Given the description of an element on the screen output the (x, y) to click on. 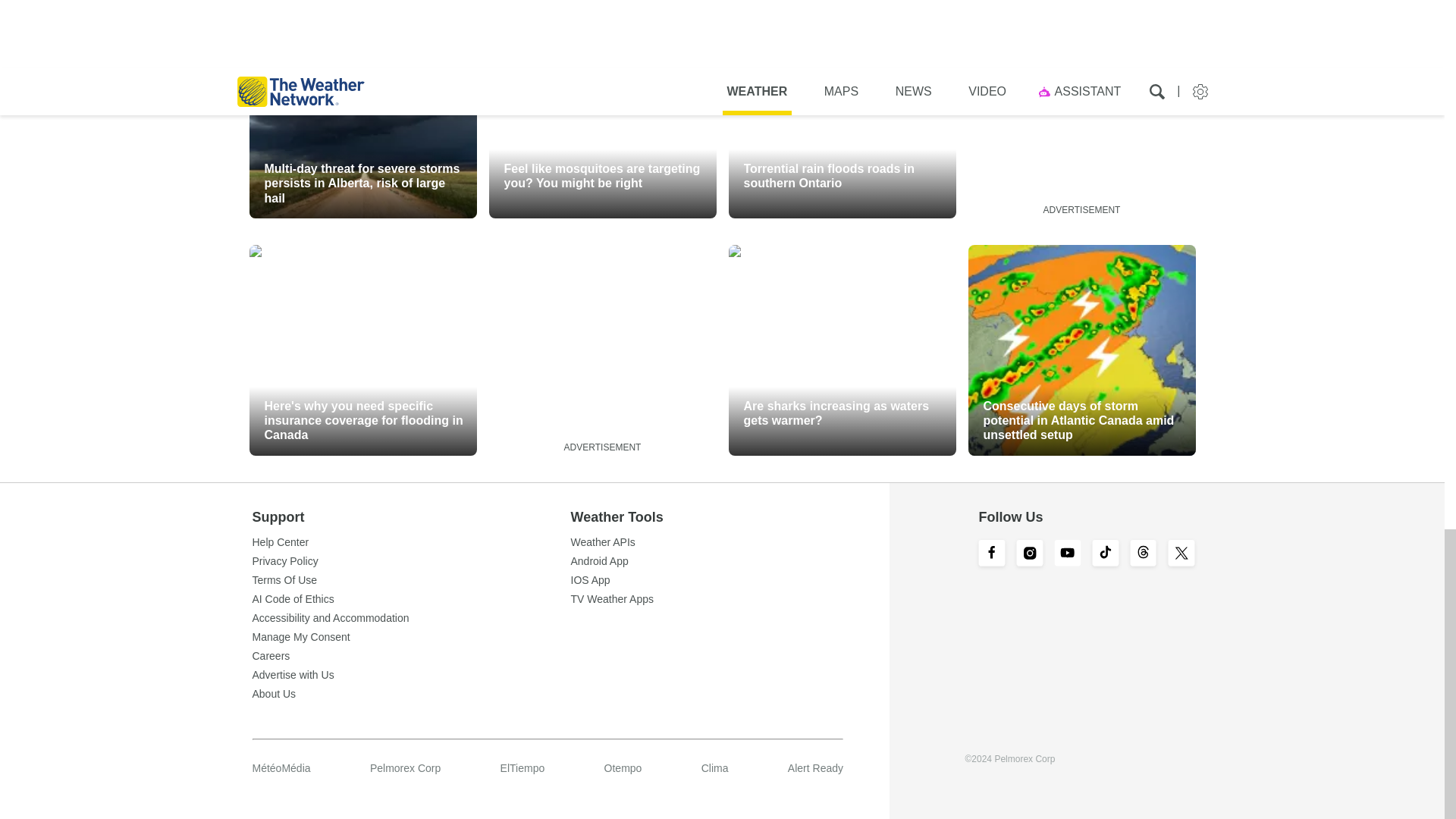
Privacy Policy (410, 561)
IOS App (729, 579)
Android App (729, 561)
Manage My Consent (410, 636)
Feel like mosquitoes are targeting you? You might be right (601, 112)
Weather APIs (729, 542)
Are sharks increasing as waters gets warmer? (841, 349)
TV Weather Apps (729, 598)
Alert Ready (815, 767)
Clima (715, 767)
Torrential rain floods roads in southern Ontario (841, 112)
Accessibility and Accommodation (410, 617)
Careers (410, 655)
